Given the description of an element on the screen output the (x, y) to click on. 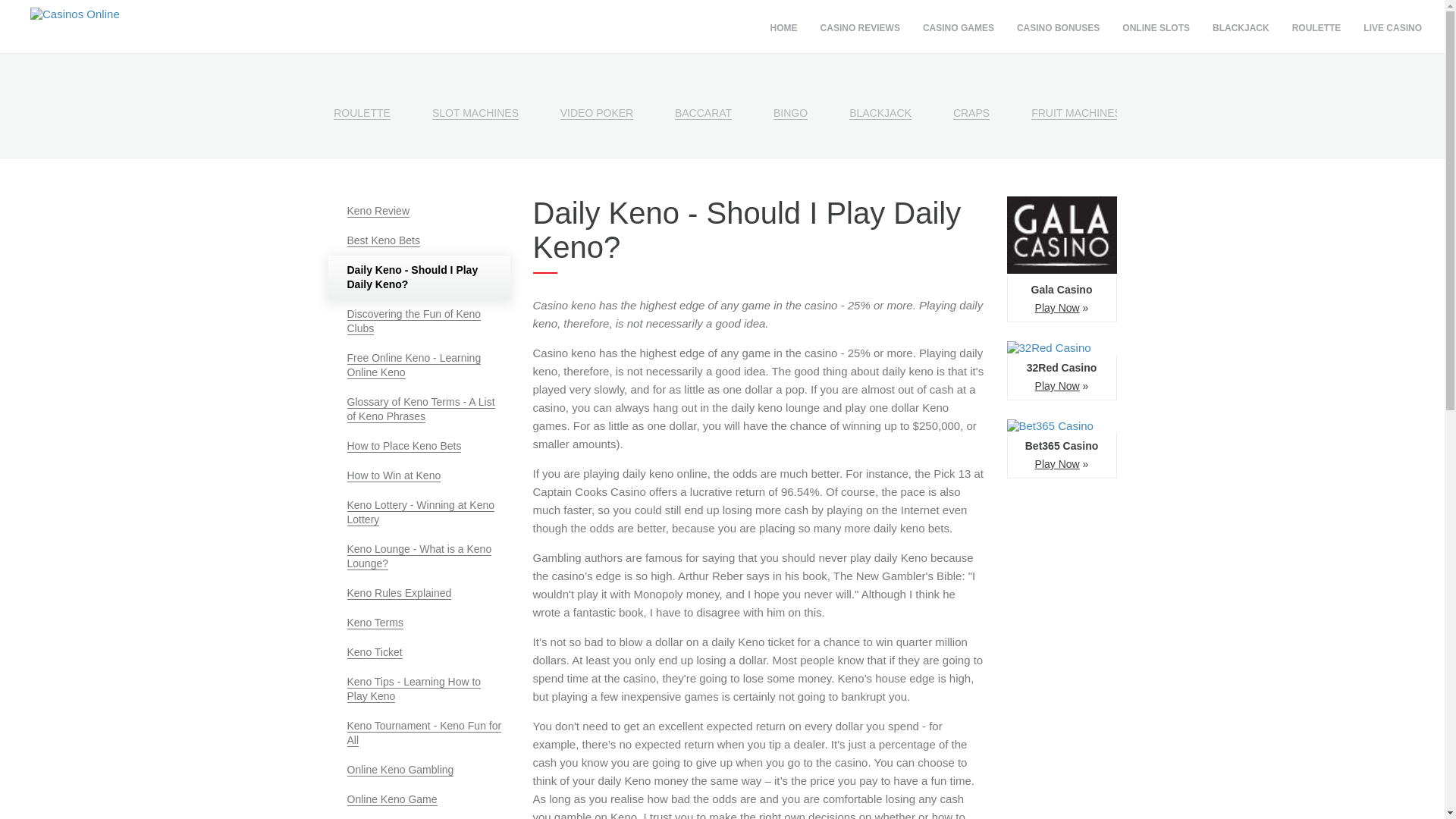
VIDEO POKER (596, 93)
HOME (783, 26)
CASINO BONUSES (1058, 26)
ONLINE SLOTS (1155, 26)
FRUIT MACHINES (1075, 93)
LIVE CASINO (1392, 26)
SLOT MACHINES (474, 93)
ROULETTE (361, 93)
CRAPS (971, 93)
Bet365 Casino (1061, 448)
BLACKJACK (879, 93)
ROULETTE (1316, 26)
CASINO REVIEWS (860, 26)
BACCARAT (702, 93)
32Red Casino (1061, 370)
